Given the description of an element on the screen output the (x, y) to click on. 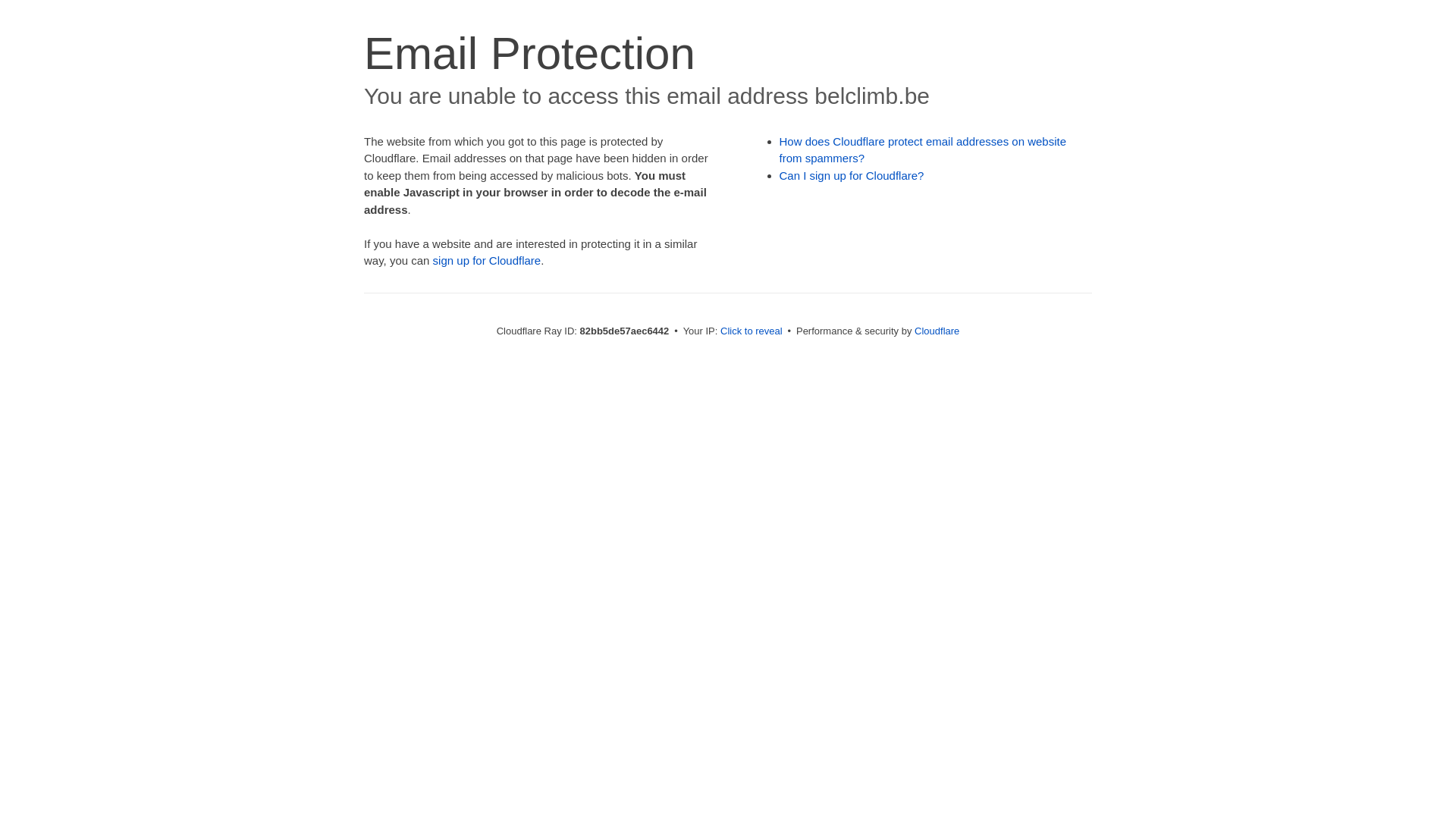
Cloudflare Element type: text (936, 330)
sign up for Cloudflare Element type: text (487, 260)
Click to reveal Element type: text (751, 330)
Can I sign up for Cloudflare? Element type: text (851, 175)
